Given the description of an element on the screen output the (x, y) to click on. 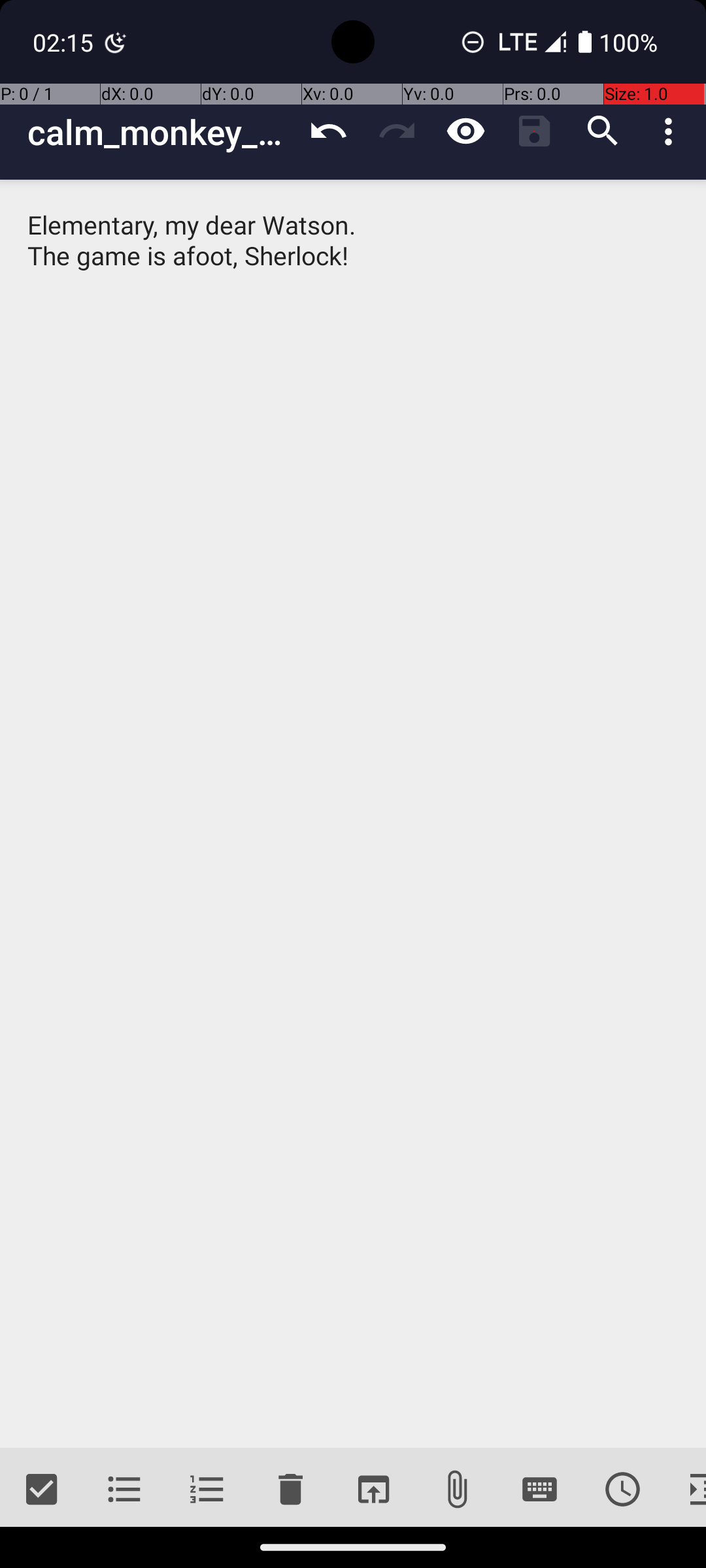
calm_monkey_2023_06_15 Element type: android.widget.TextView (160, 131)
Elementary, my dear Watson.
The game is afoot, Sherlock!
     Element type: android.widget.EditText (353, 813)
02:15 Element type: android.widget.TextView (64, 41)
Digital Wellbeing notification: Bedtime mode is on Element type: android.widget.ImageView (115, 41)
